Given the description of an element on the screen output the (x, y) to click on. 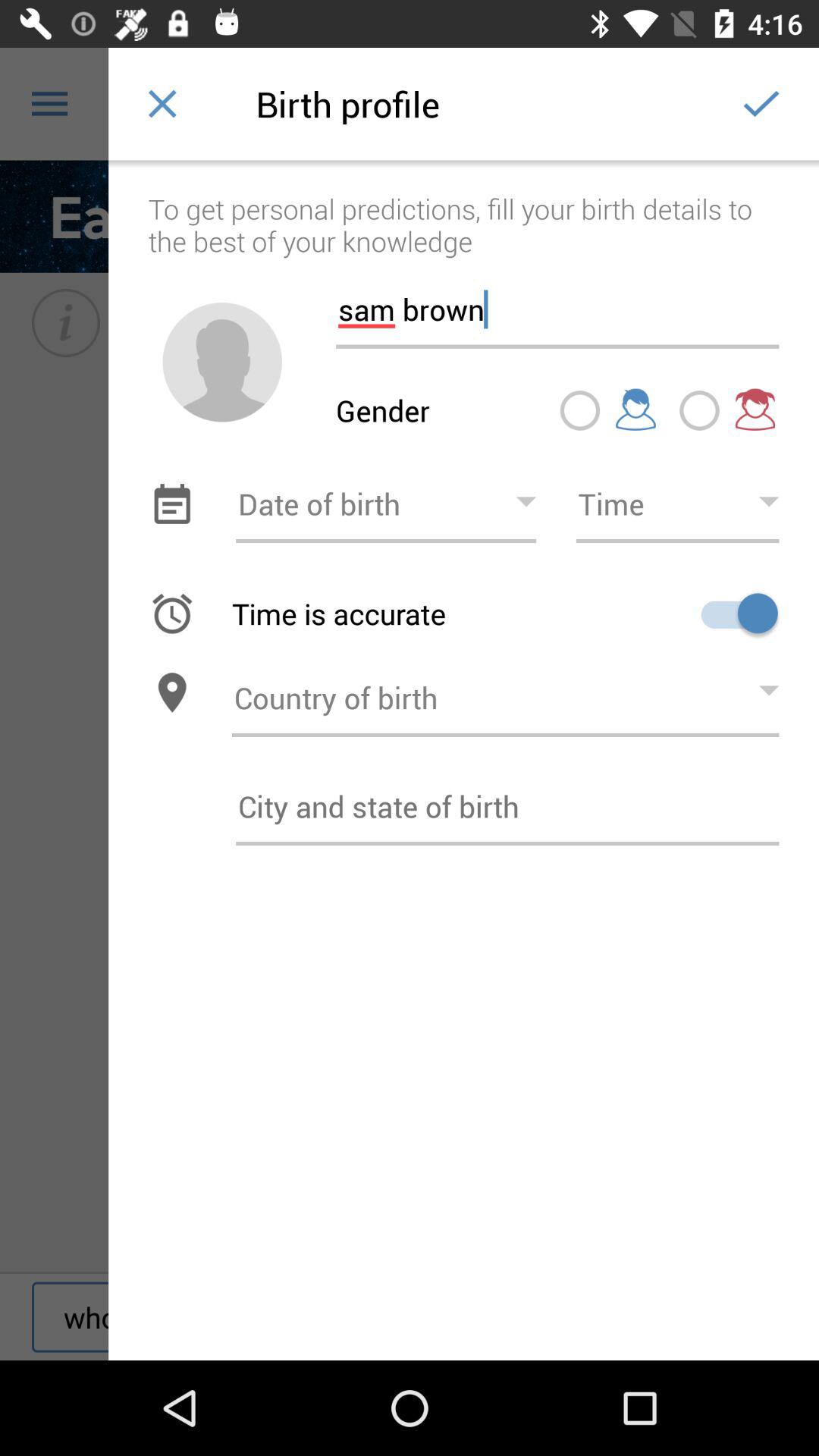
female (699, 410)
